Given the description of an element on the screen output the (x, y) to click on. 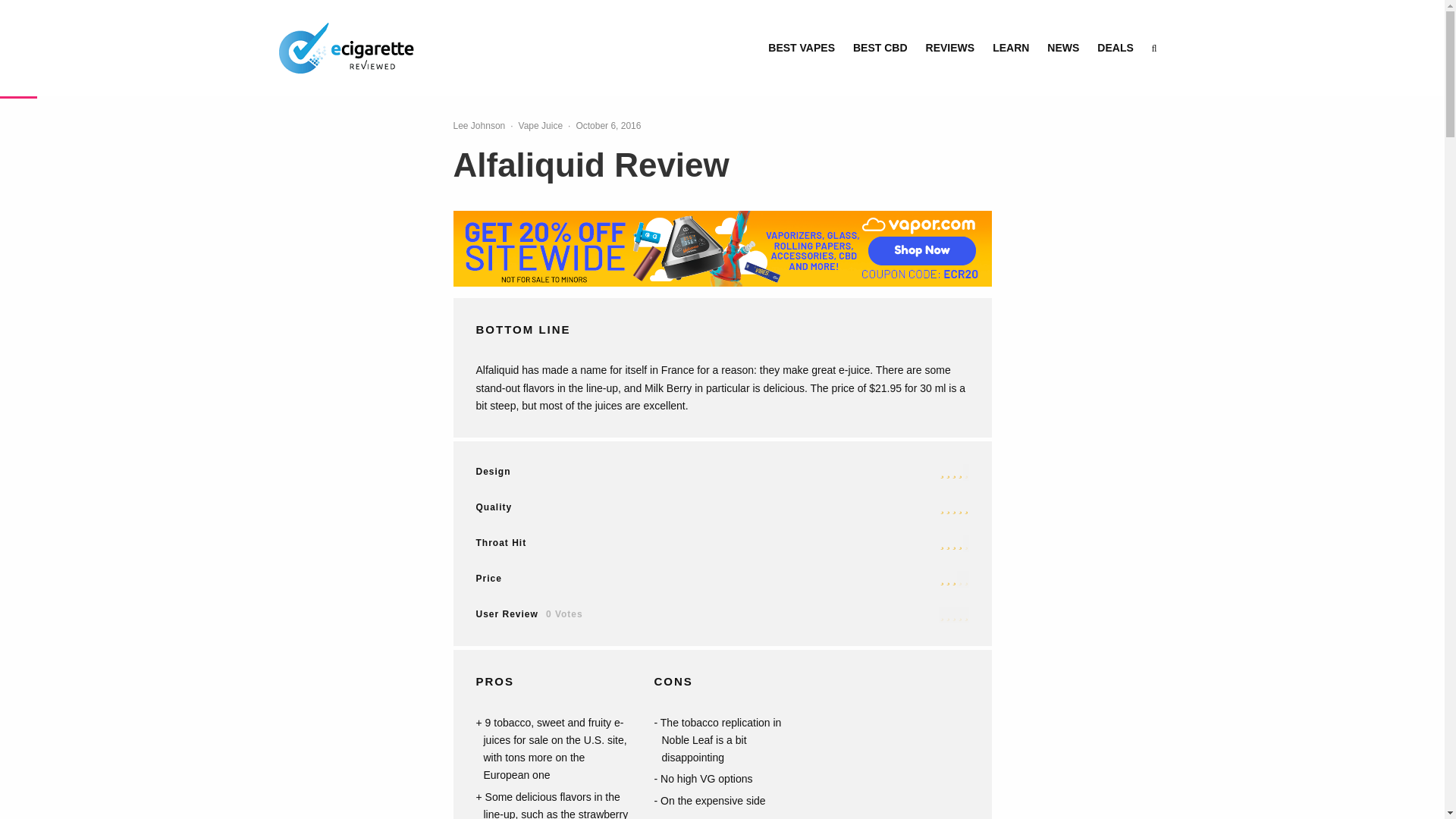
Lee Johnson (478, 125)
Vape Juice (540, 126)
